Given the description of an element on the screen output the (x, y) to click on. 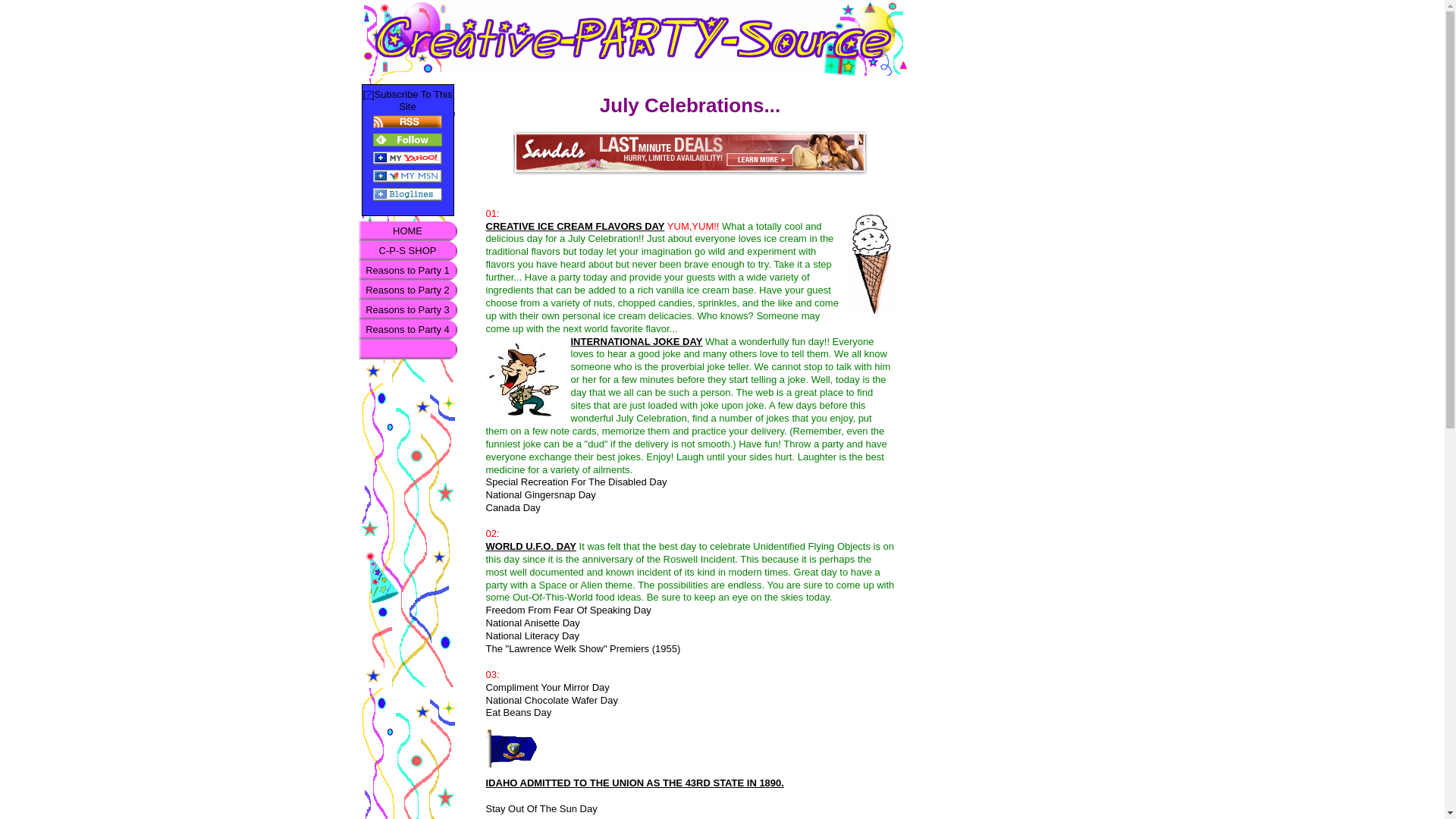
Reasons to Party 3 (407, 310)
HOME (407, 230)
Reasons to Party 2 (407, 290)
C-P-S SHOP (407, 250)
Reasons to Party 4 (407, 329)
Reasons to Party 1 (407, 270)
